Given the description of an element on the screen output the (x, y) to click on. 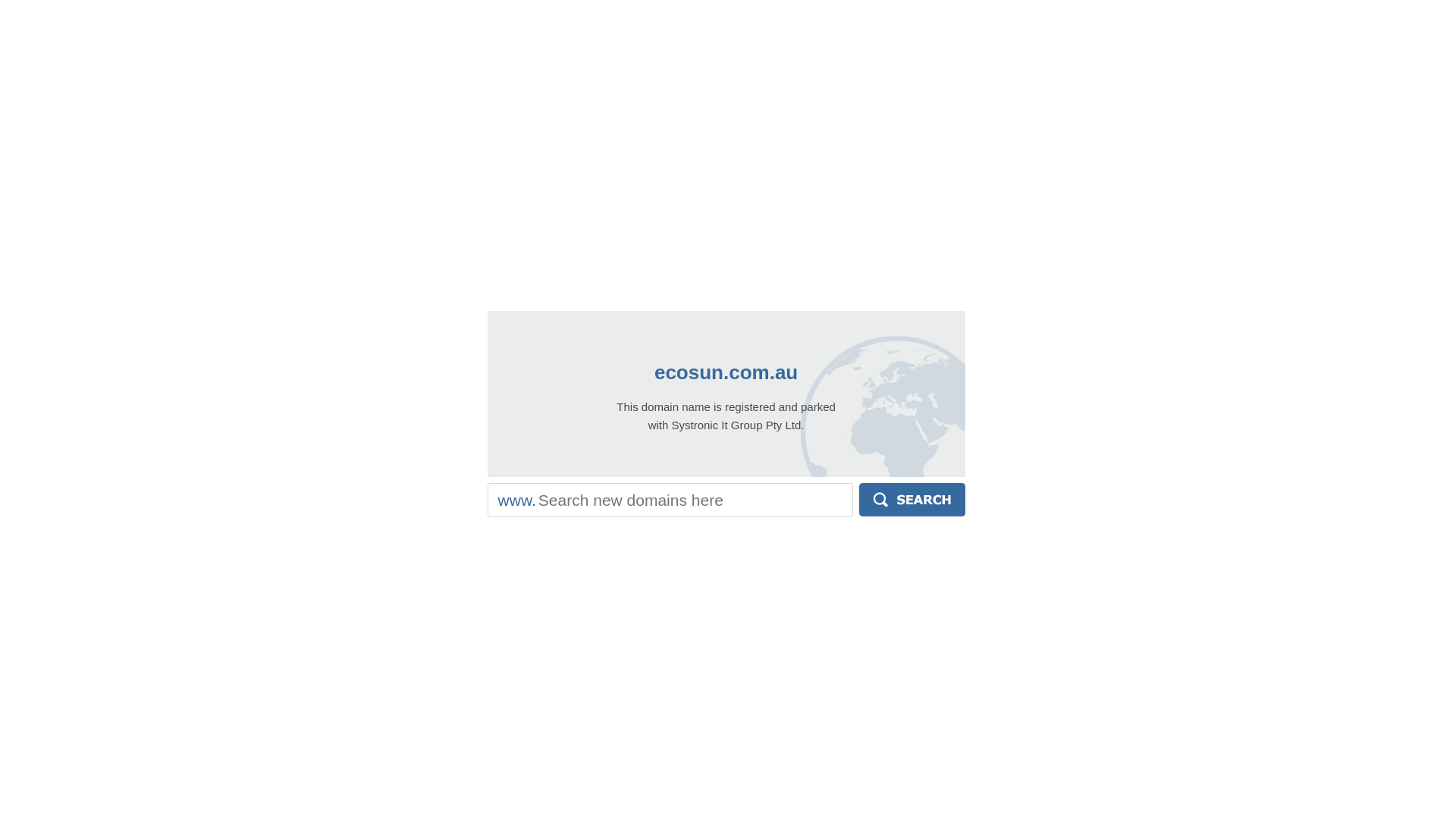
Search Element type: text (912, 499)
